Given the description of an element on the screen output the (x, y) to click on. 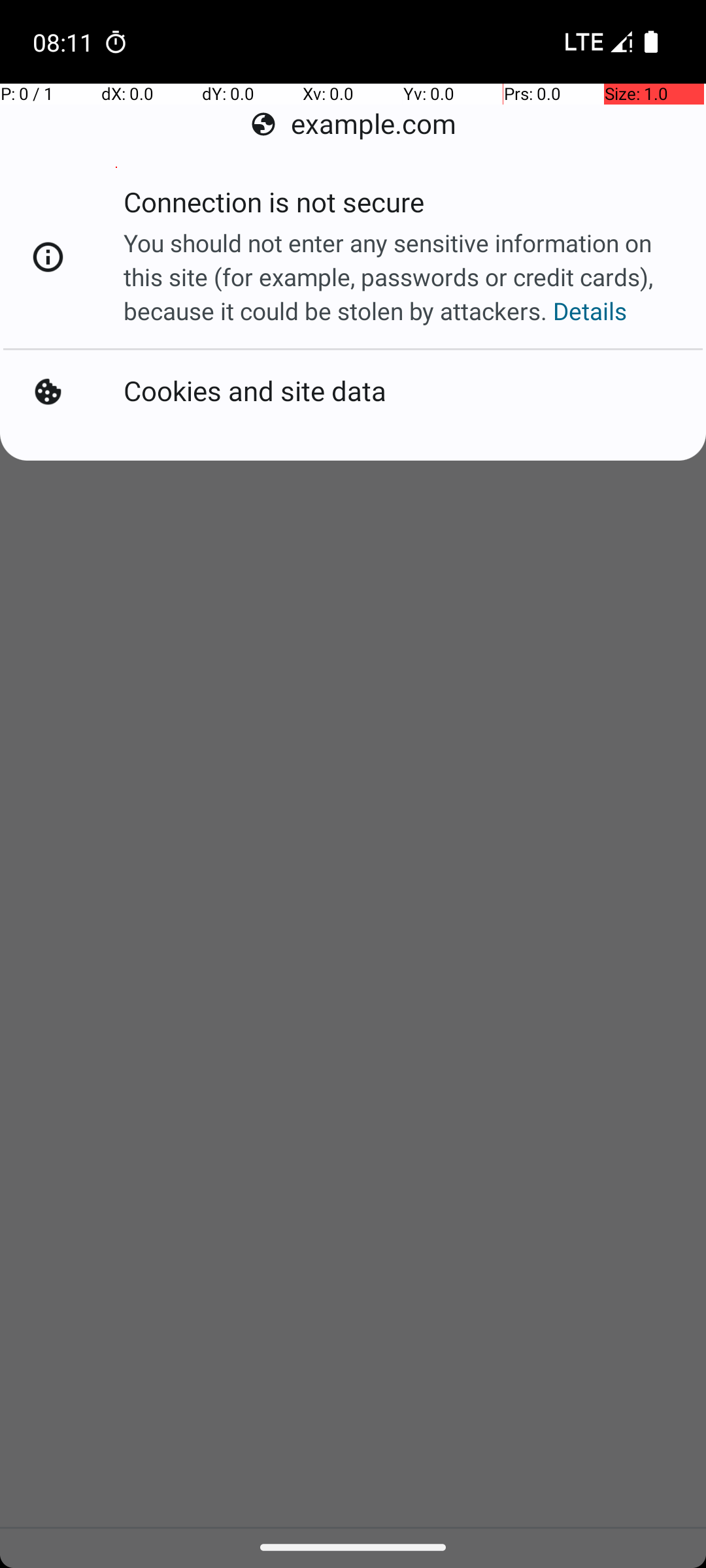
example.com Element type: android.widget.TextView (352, 124)
Connection is not secure Element type: android.widget.TextView (273, 206)
You should not enter any sensitive information on this site (for example, passwords or credit cards), because it could be stolen by attackers. Details Element type: android.widget.TextView (400, 276)
Cookies and site data Element type: android.widget.TextView (254, 391)
08:11 Element type: android.widget.TextView (64, 41)
